Given the description of an element on the screen output the (x, y) to click on. 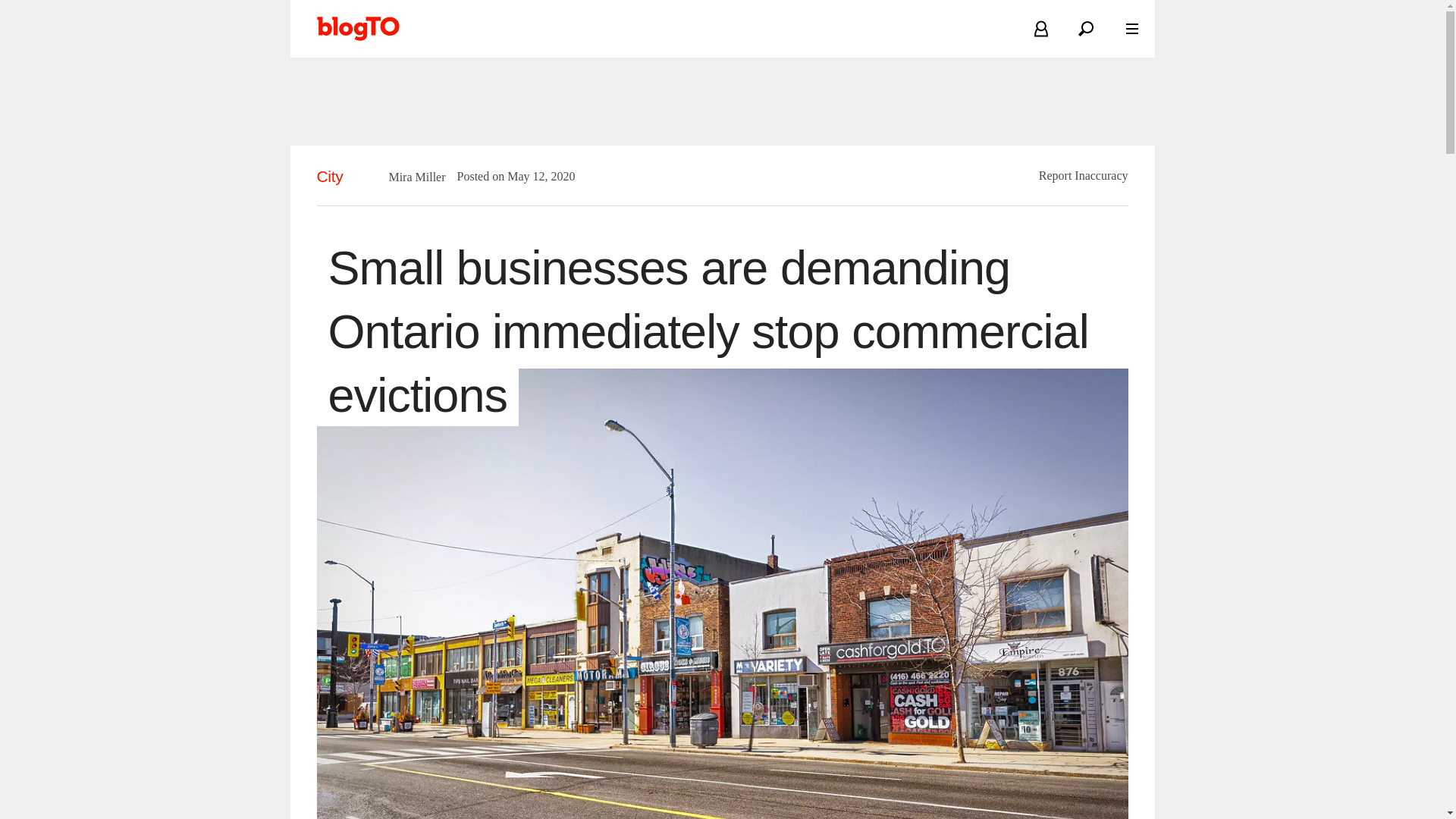
2020-05-12T10:09:45 (533, 175)
